Given the description of an element on the screen output the (x, y) to click on. 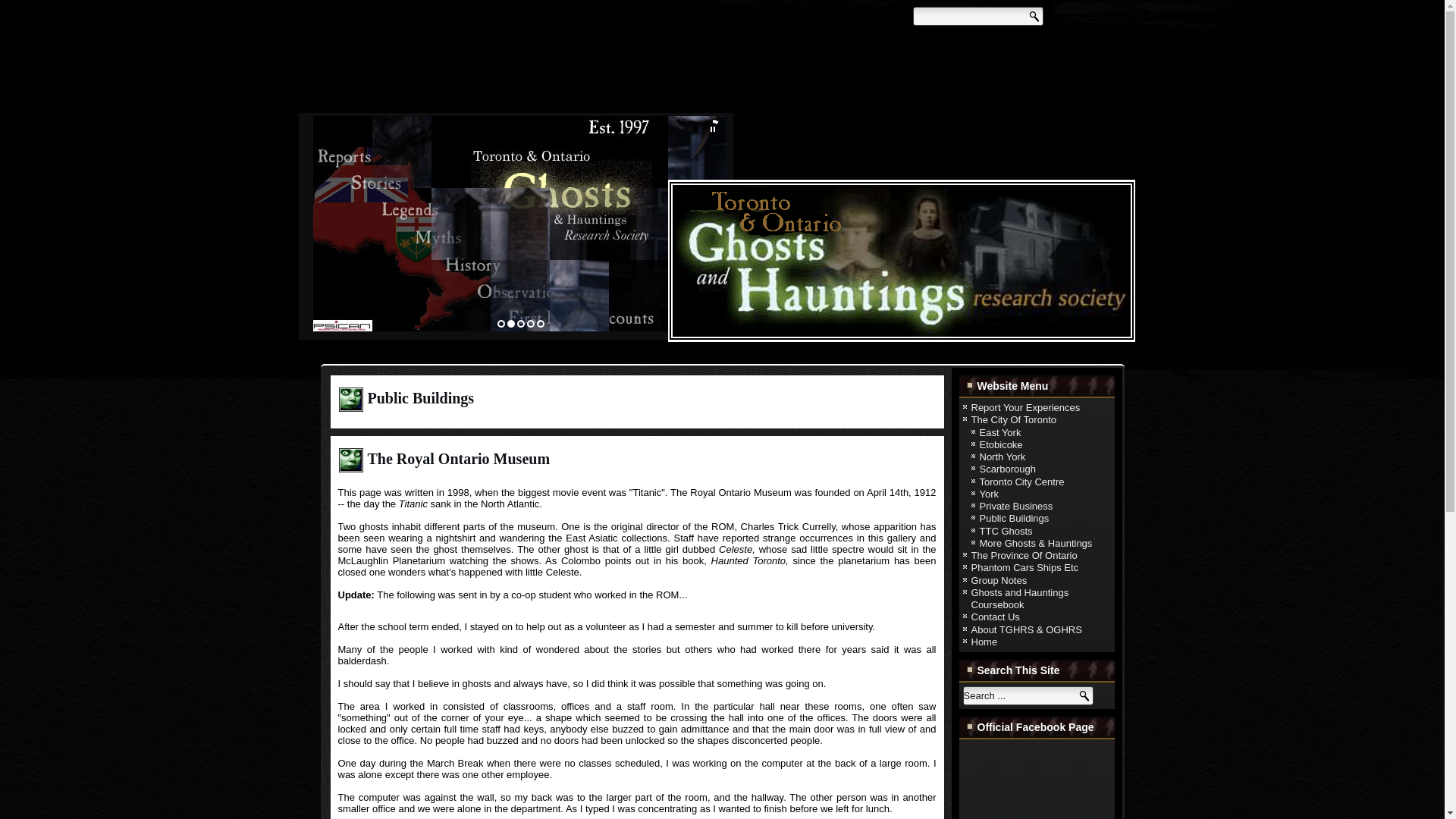
Report Your Experiences (1025, 407)
Scarborough (1007, 469)
Public Buildings (1014, 518)
East York (1000, 431)
Etobicoke (1001, 444)
Private Business (1015, 505)
TTC Ghosts (1005, 530)
Phantom Cars Ships Etc (1024, 567)
York (988, 493)
Home (984, 641)
